Given the description of an element on the screen output the (x, y) to click on. 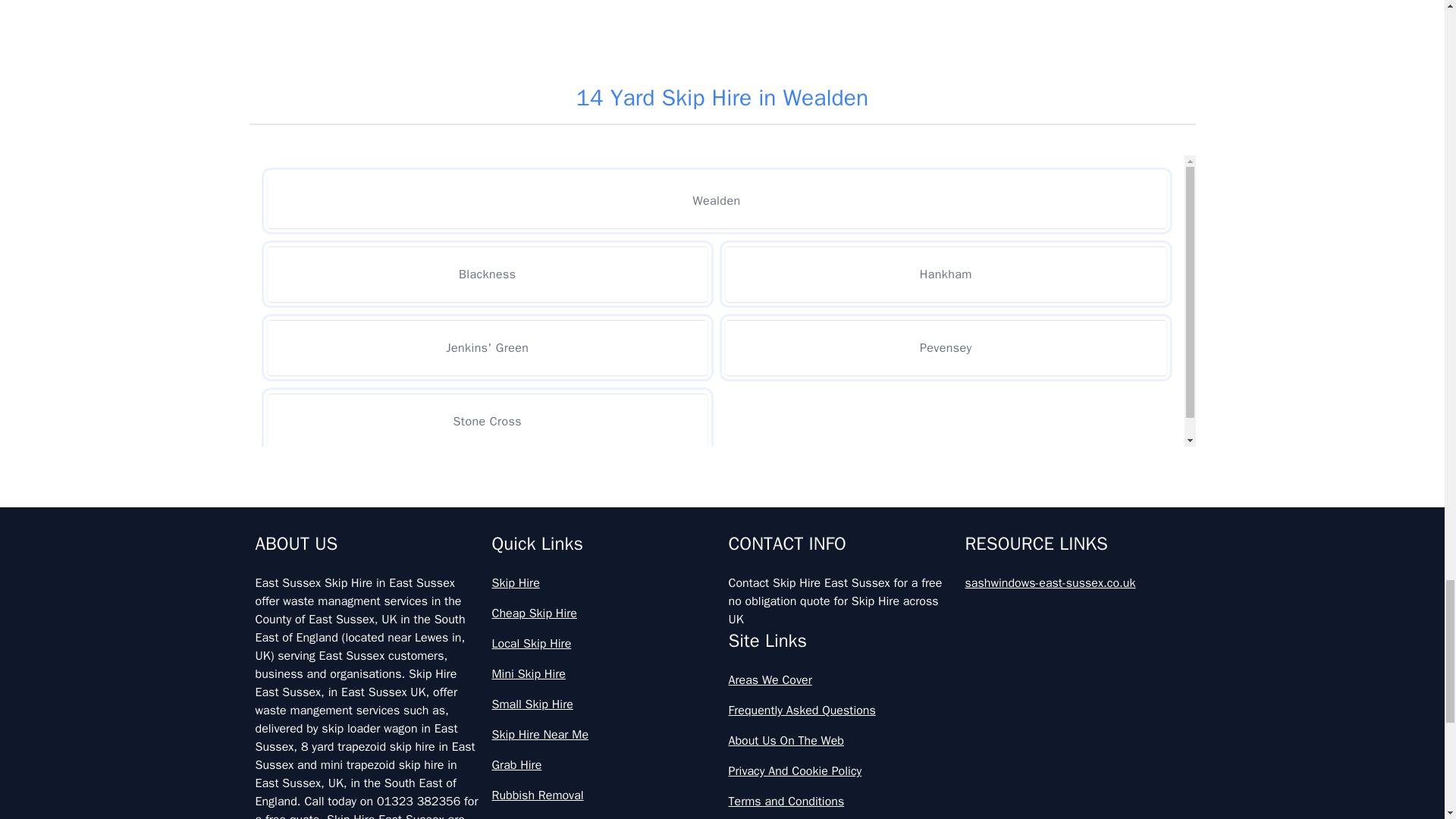
sashwindows-east-sussex.co.uk (1076, 583)
Wealden (716, 200)
Blackness (486, 274)
